Given the description of an element on the screen output the (x, y) to click on. 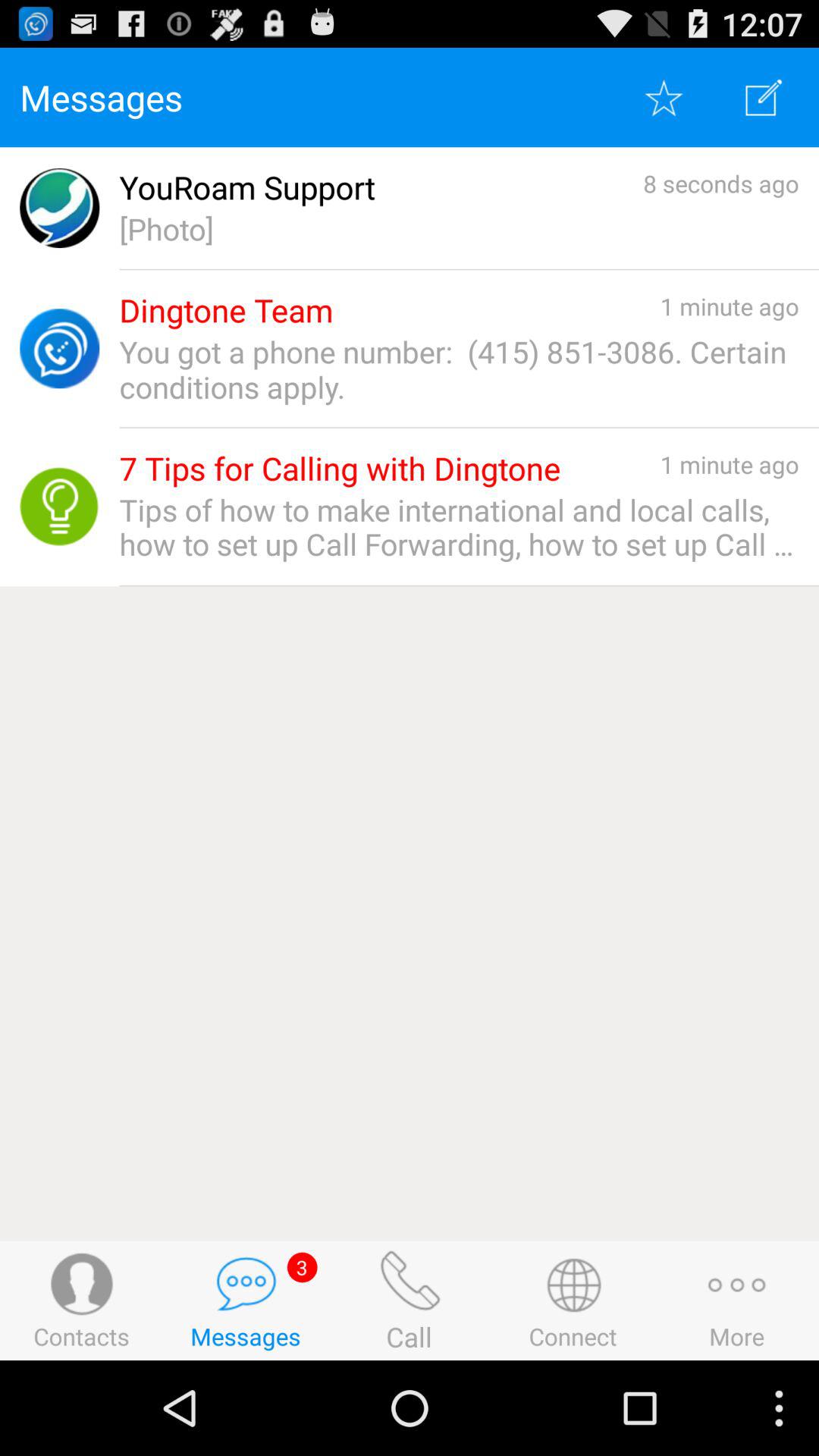
select the item below the dingtone team (459, 369)
